Given the description of an element on the screen output the (x, y) to click on. 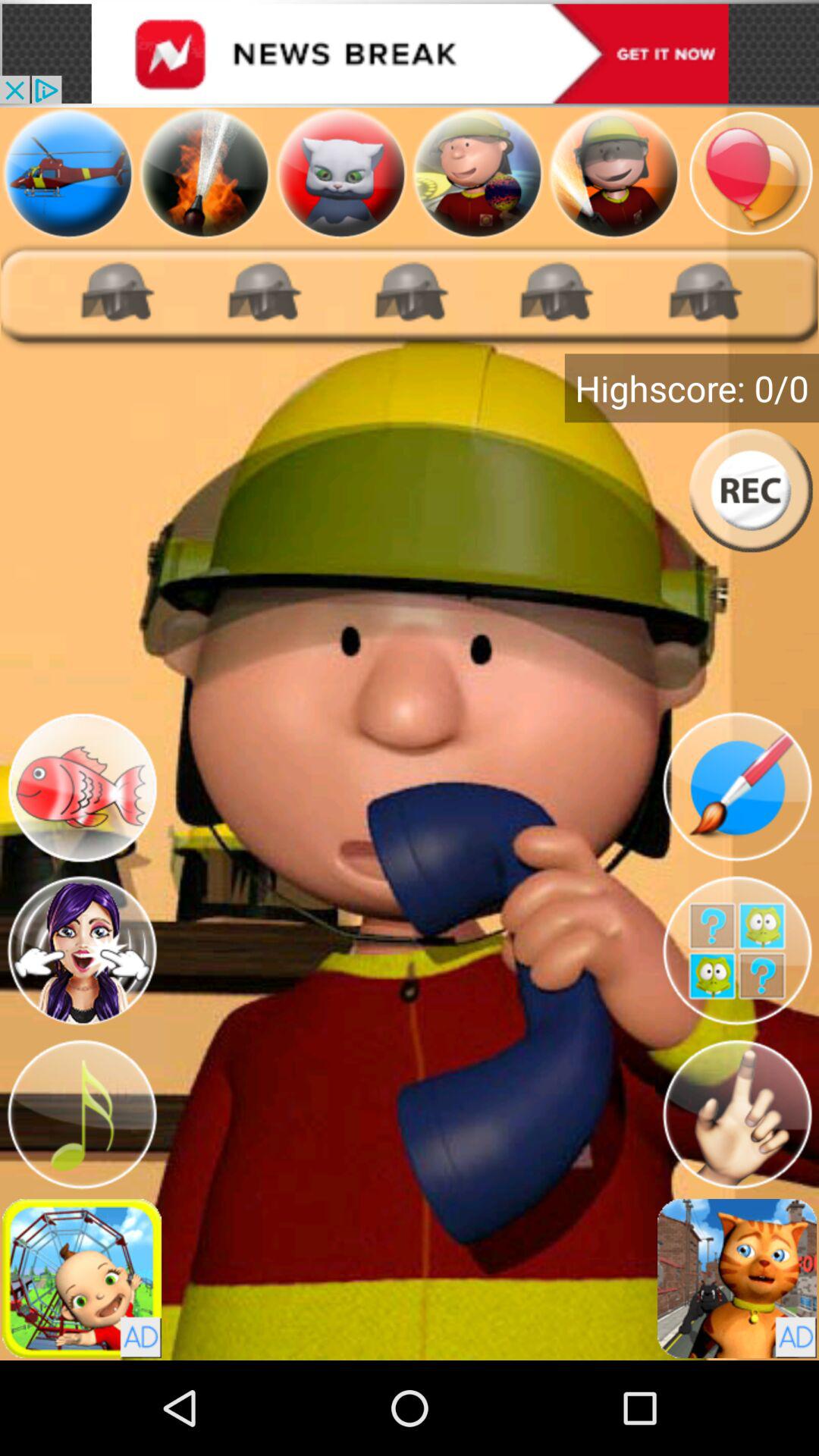
advertisement (81, 1278)
